Given the description of an element on the screen output the (x, y) to click on. 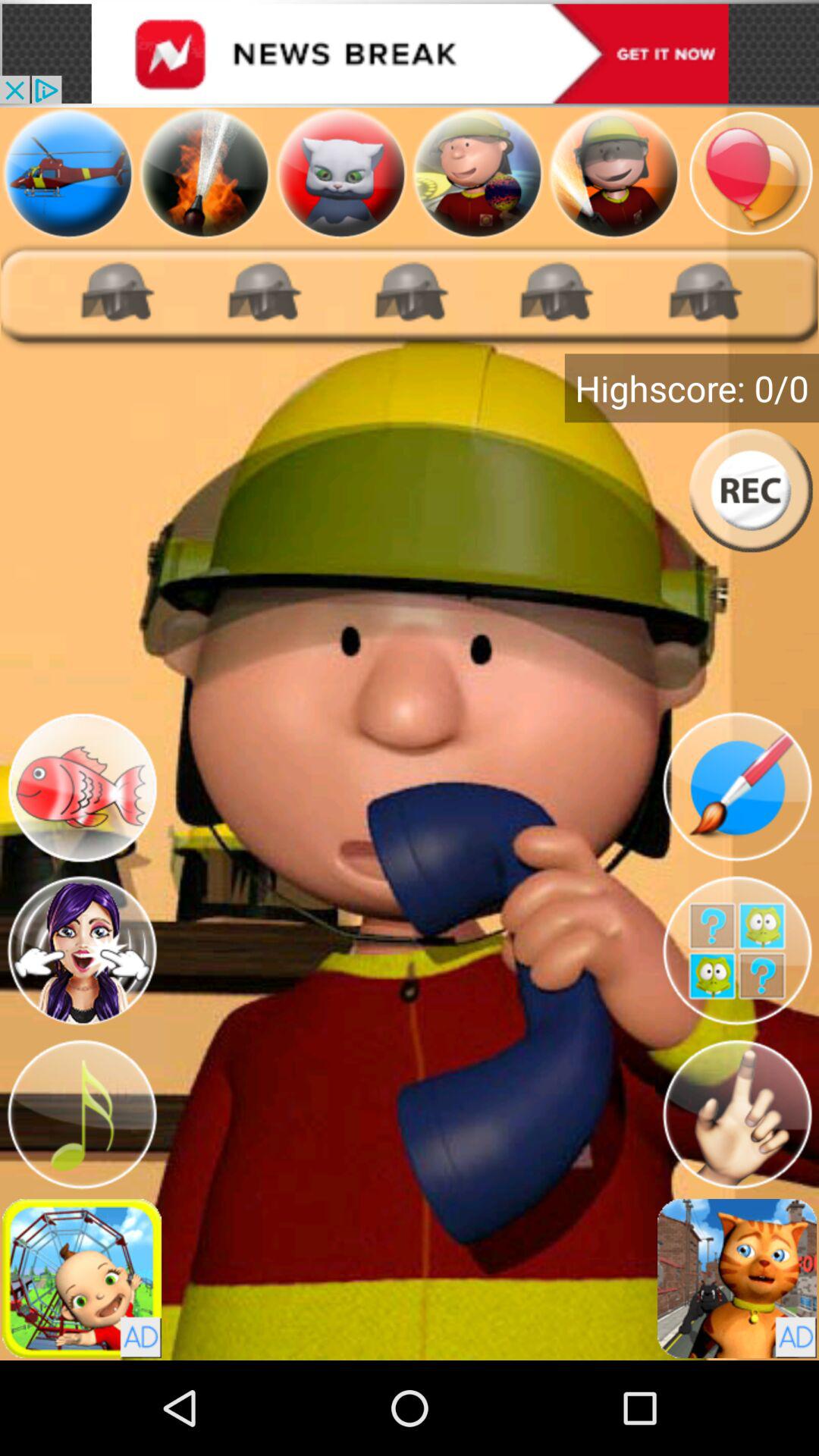
advertisement (81, 1278)
